Given the description of an element on the screen output the (x, y) to click on. 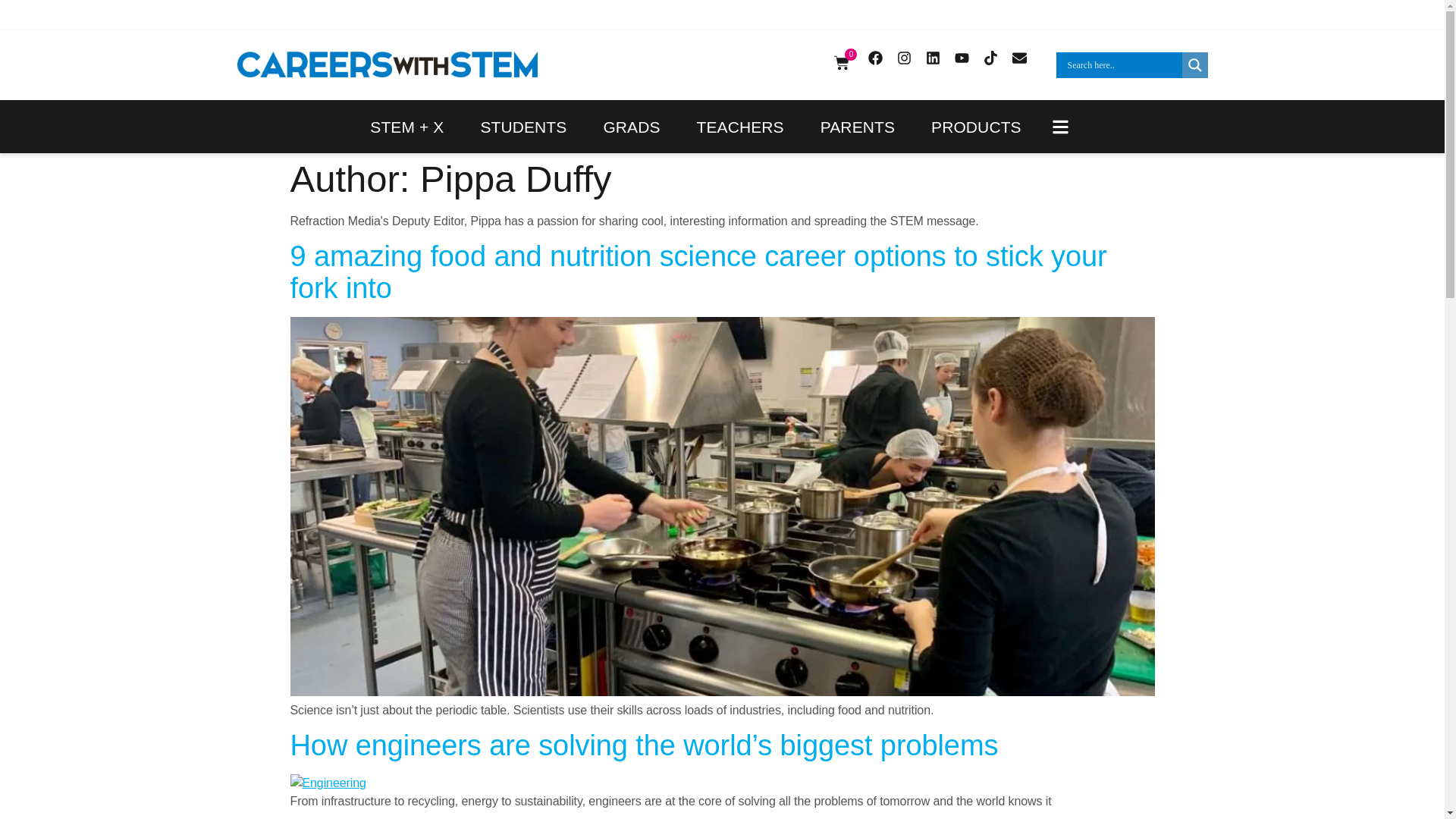
PARENTS (857, 126)
STUDENTS (522, 126)
PRODUCTS (976, 126)
GRADS (631, 126)
TEACHERS (739, 126)
